Given the description of an element on the screen output the (x, y) to click on. 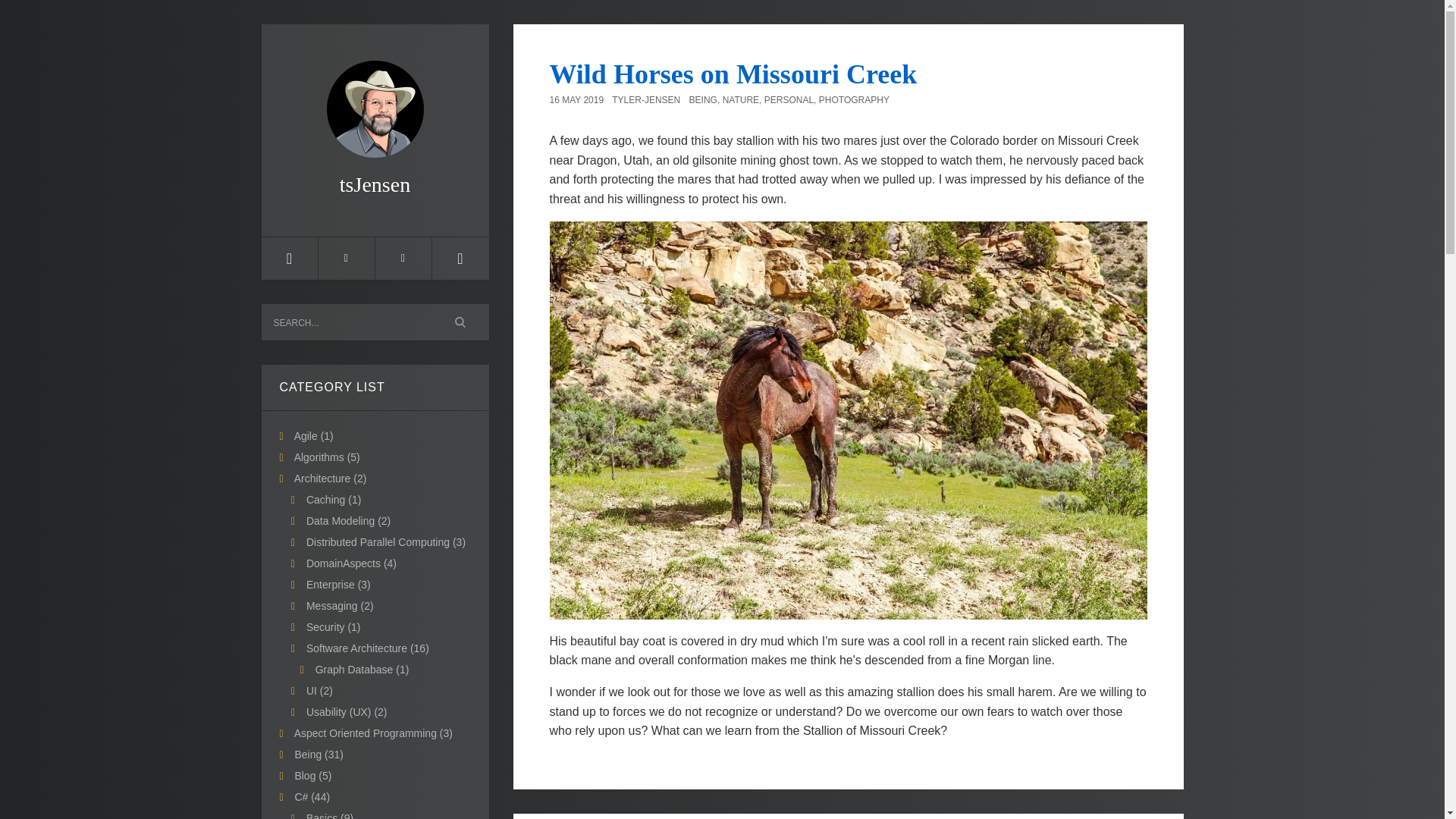
Category: DomainAspects (350, 563)
Category: Architecture (330, 478)
Category: Caching (333, 499)
Category: Messaging (339, 605)
tsJensen (373, 118)
Archive (346, 258)
Category: Data Modeling (347, 521)
Category: Enterprise (338, 584)
About (402, 258)
Category: Algorithms (326, 457)
